Given the description of an element on the screen output the (x, y) to click on. 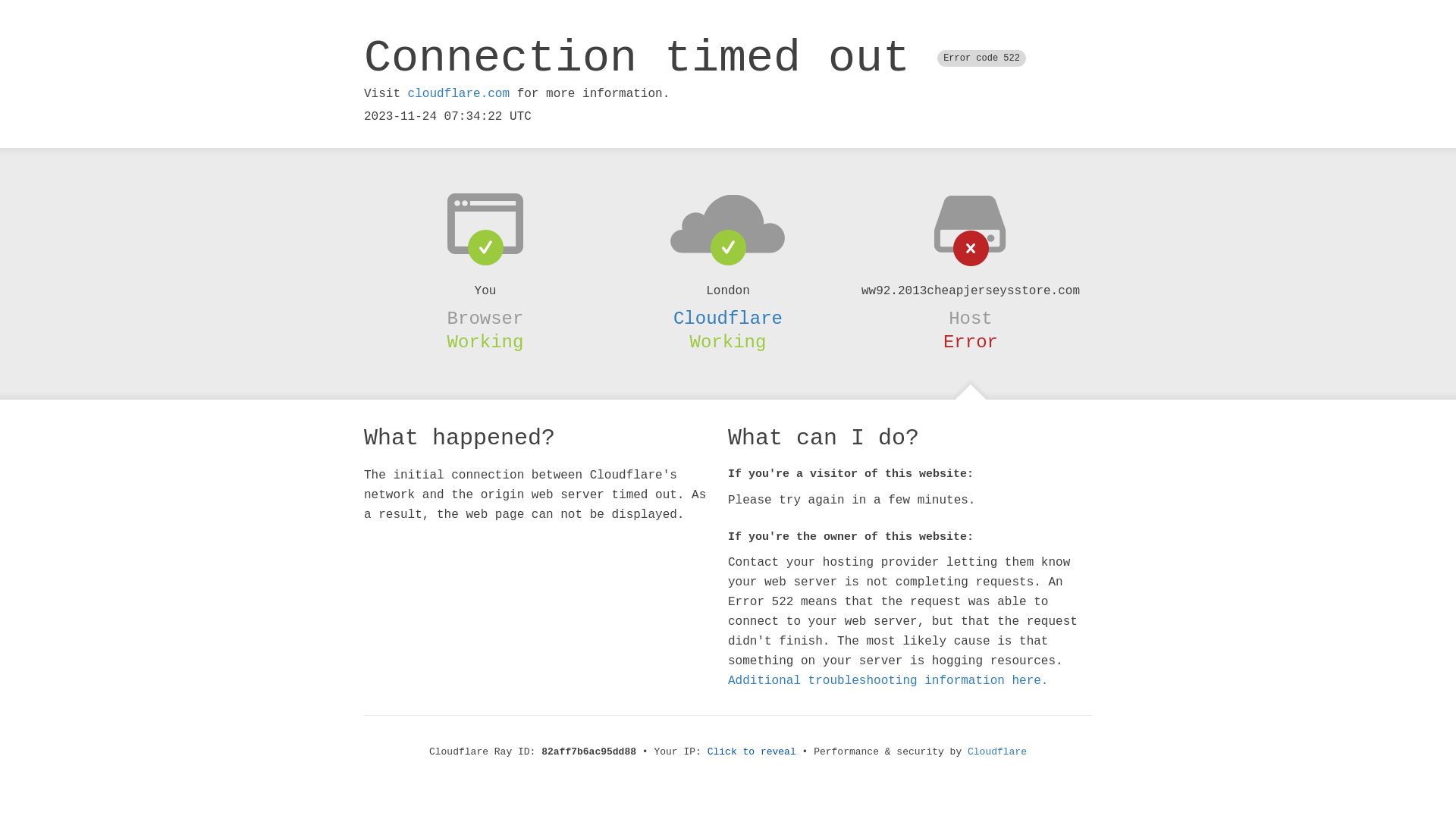
Additional troubleshooting information here. Element type: text (888, 680)
Cloudflare Element type: text (996, 751)
Cloudflare Element type: text (727, 318)
cloudflare.com Element type: text (458, 93)
Click to reveal Element type: text (751, 751)
